Given the description of an element on the screen output the (x, y) to click on. 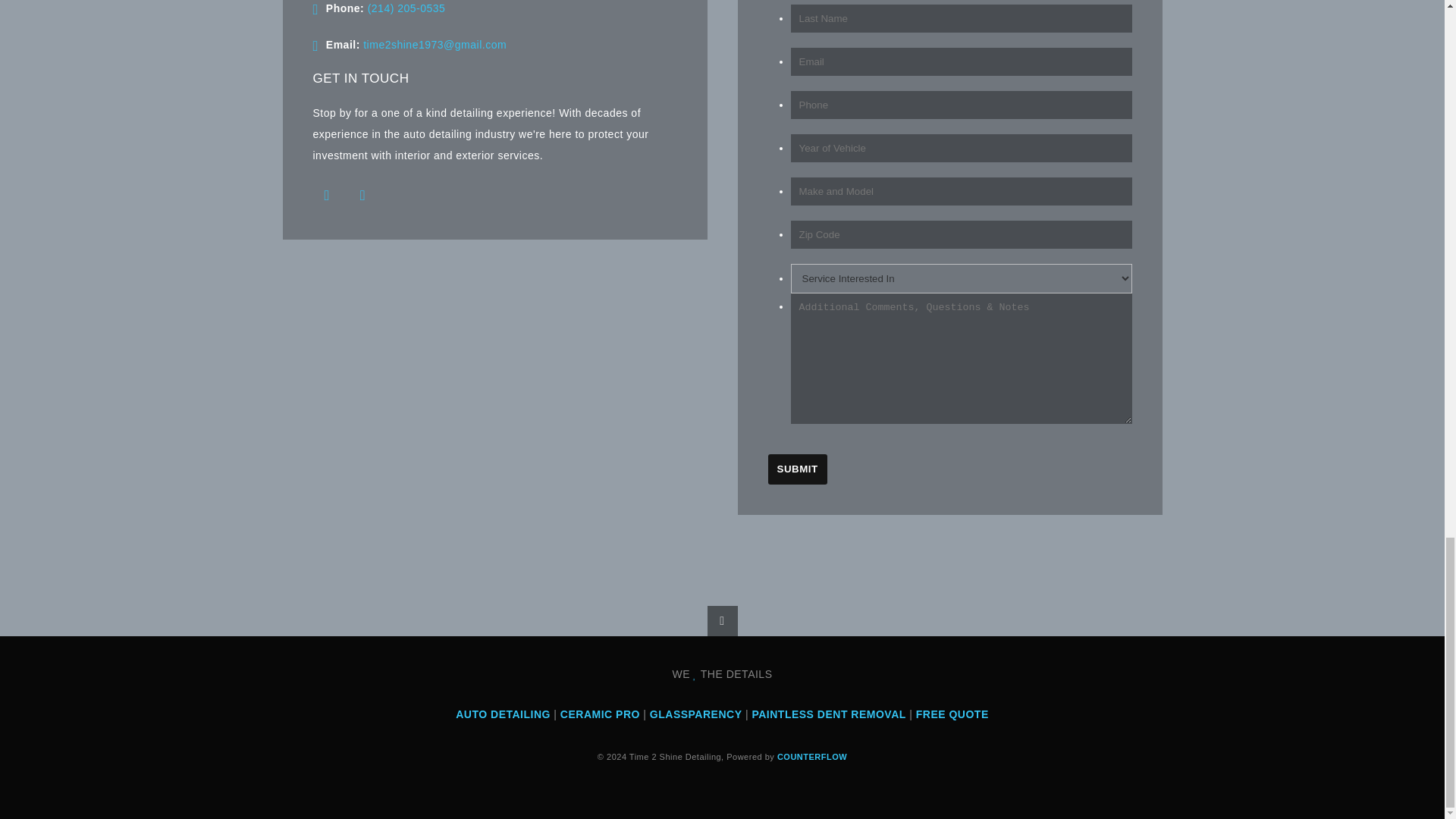
Submit (797, 469)
